Given the description of an element on the screen output the (x, y) to click on. 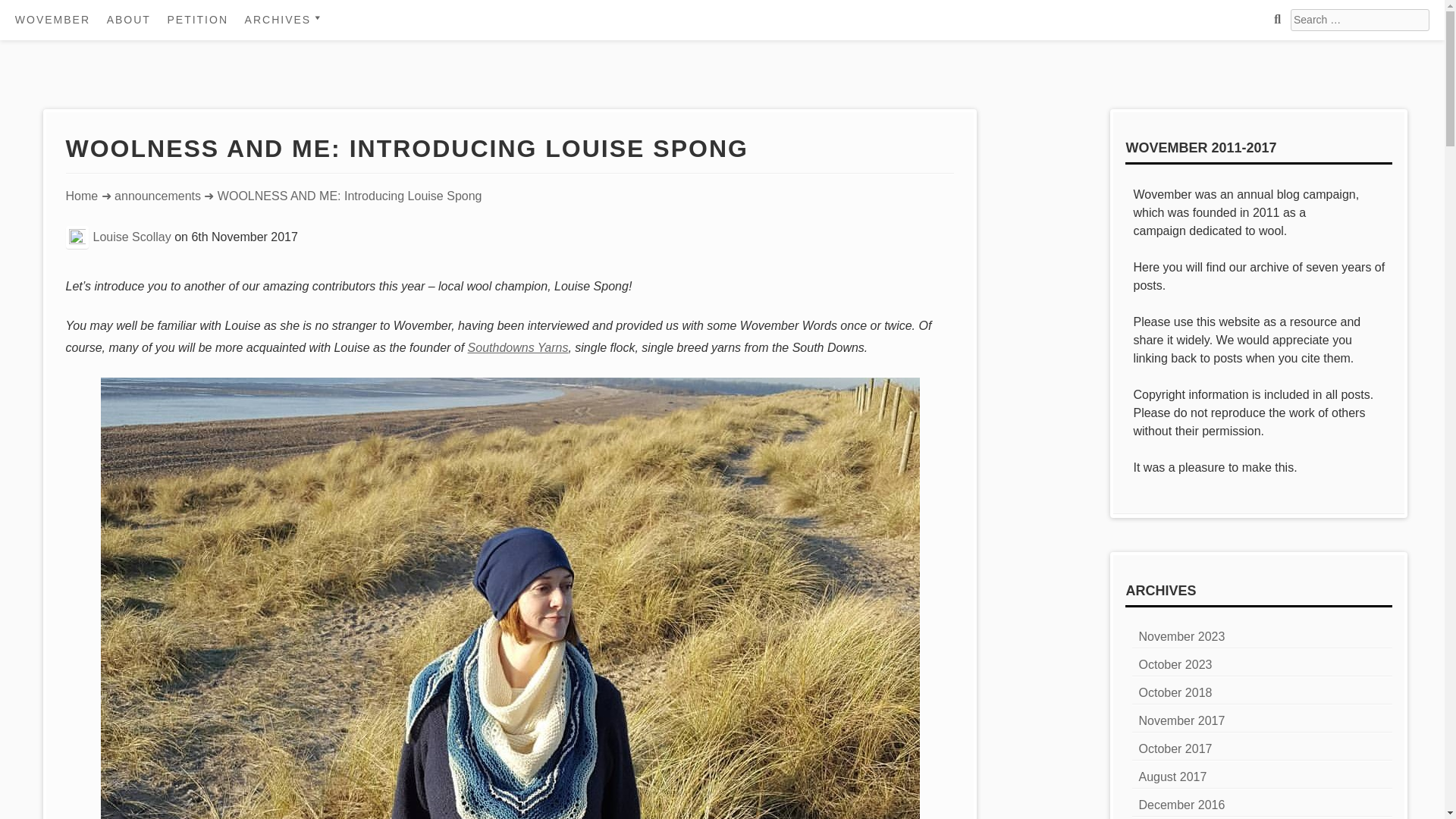
ARCHIVES (284, 19)
announcements (157, 195)
October 2018 (1174, 692)
October 2017 (1174, 748)
PETITION (197, 19)
November 2017 (1181, 720)
2011 (325, 52)
Louise Scollay (132, 236)
2013 (325, 105)
December 2016 (1181, 804)
October 2023 (1174, 664)
November 2023 (1181, 635)
2016 (325, 185)
2015 (325, 158)
